Given the description of an element on the screen output the (x, y) to click on. 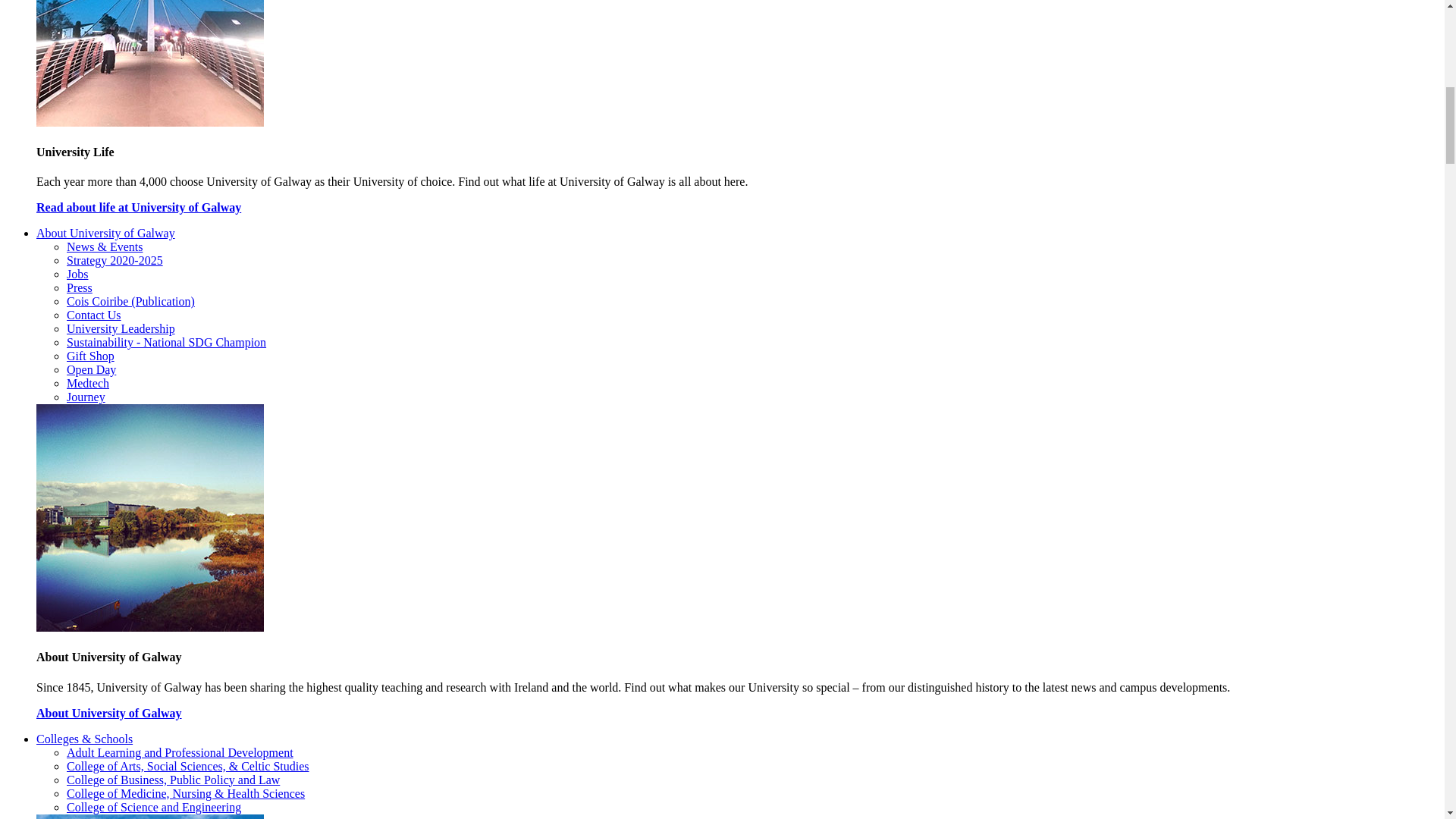
Strategy 2020-2025 (114, 259)
Read about life at University of Galway (138, 206)
Sustainability - National SDG Champion (166, 341)
Jobs (76, 273)
Press (79, 287)
About University of Galway (105, 232)
University Leadership (120, 328)
Contact Us (93, 314)
